Given the description of an element on the screen output the (x, y) to click on. 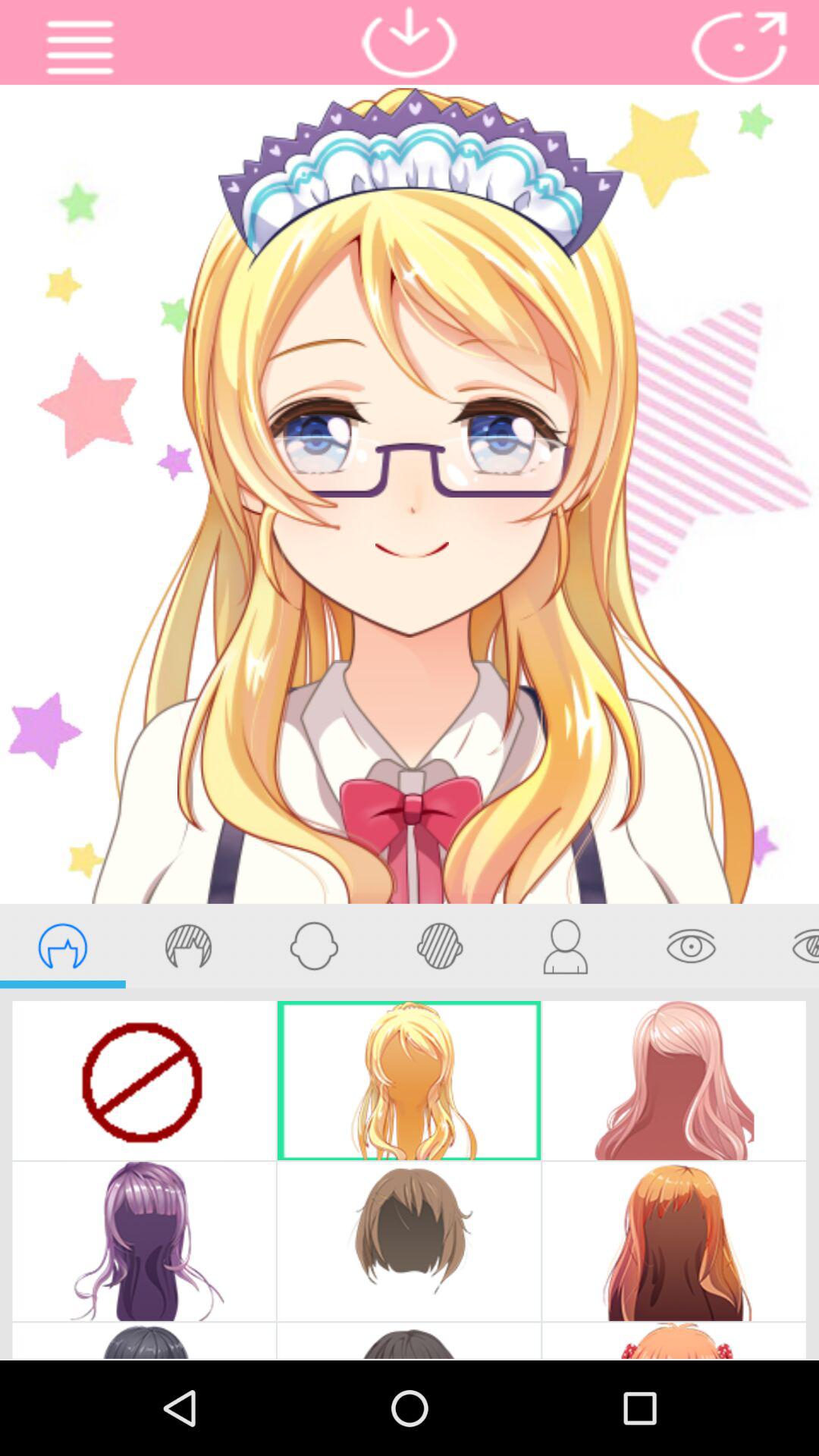
select face shape (314, 945)
